Given the description of an element on the screen output the (x, y) to click on. 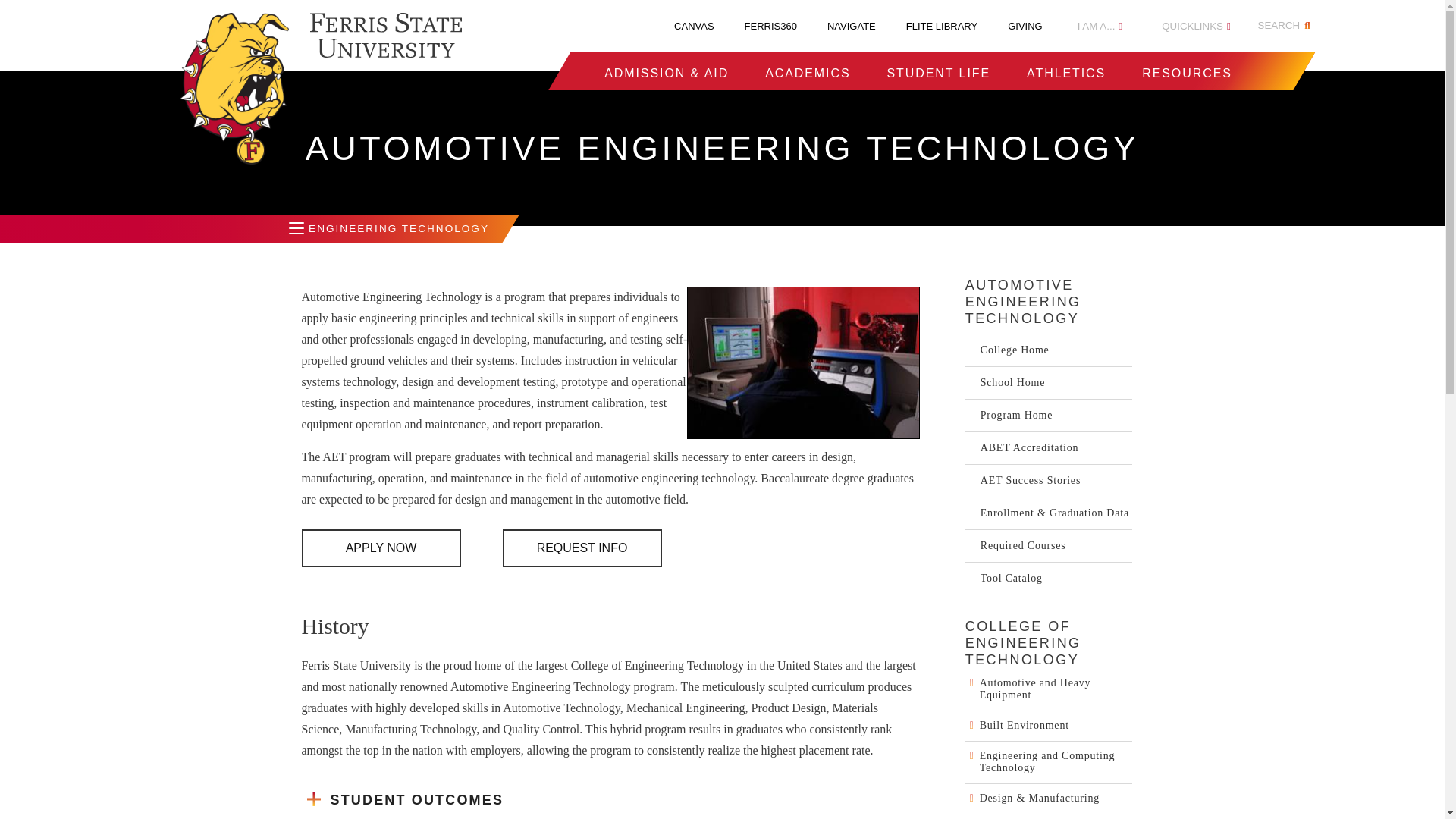
FERRIS360 (770, 25)
FLITE LIBRARY (940, 25)
CANVAS (694, 25)
SEARCH (1285, 25)
GIVING (1024, 25)
ACADEMICS (807, 73)
QUICKLINKS (1195, 26)
I AM A... (1099, 26)
NAVIGATE (851, 25)
